Given the description of an element on the screen output the (x, y) to click on. 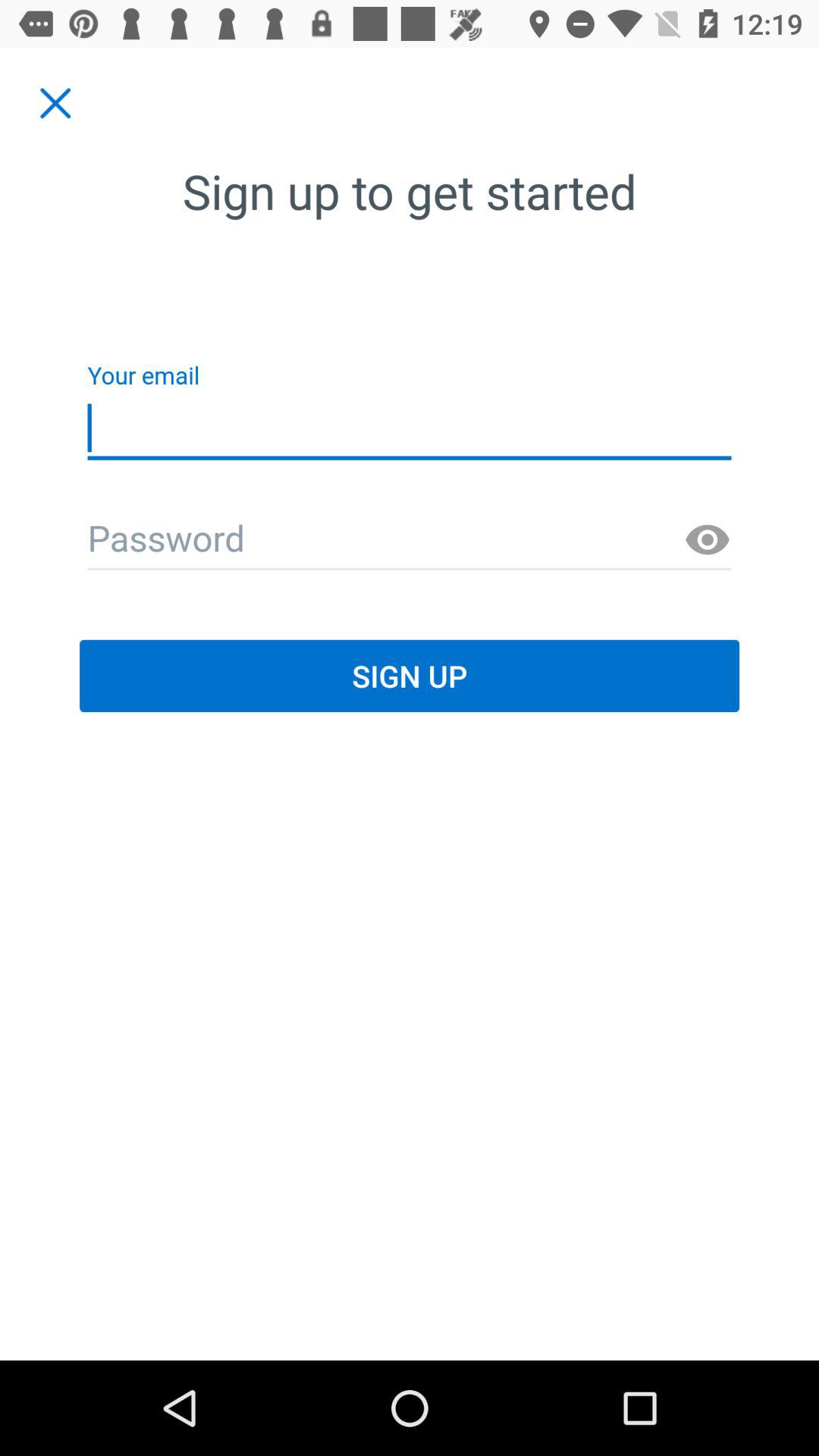
password show (707, 540)
